Given the description of an element on the screen output the (x, y) to click on. 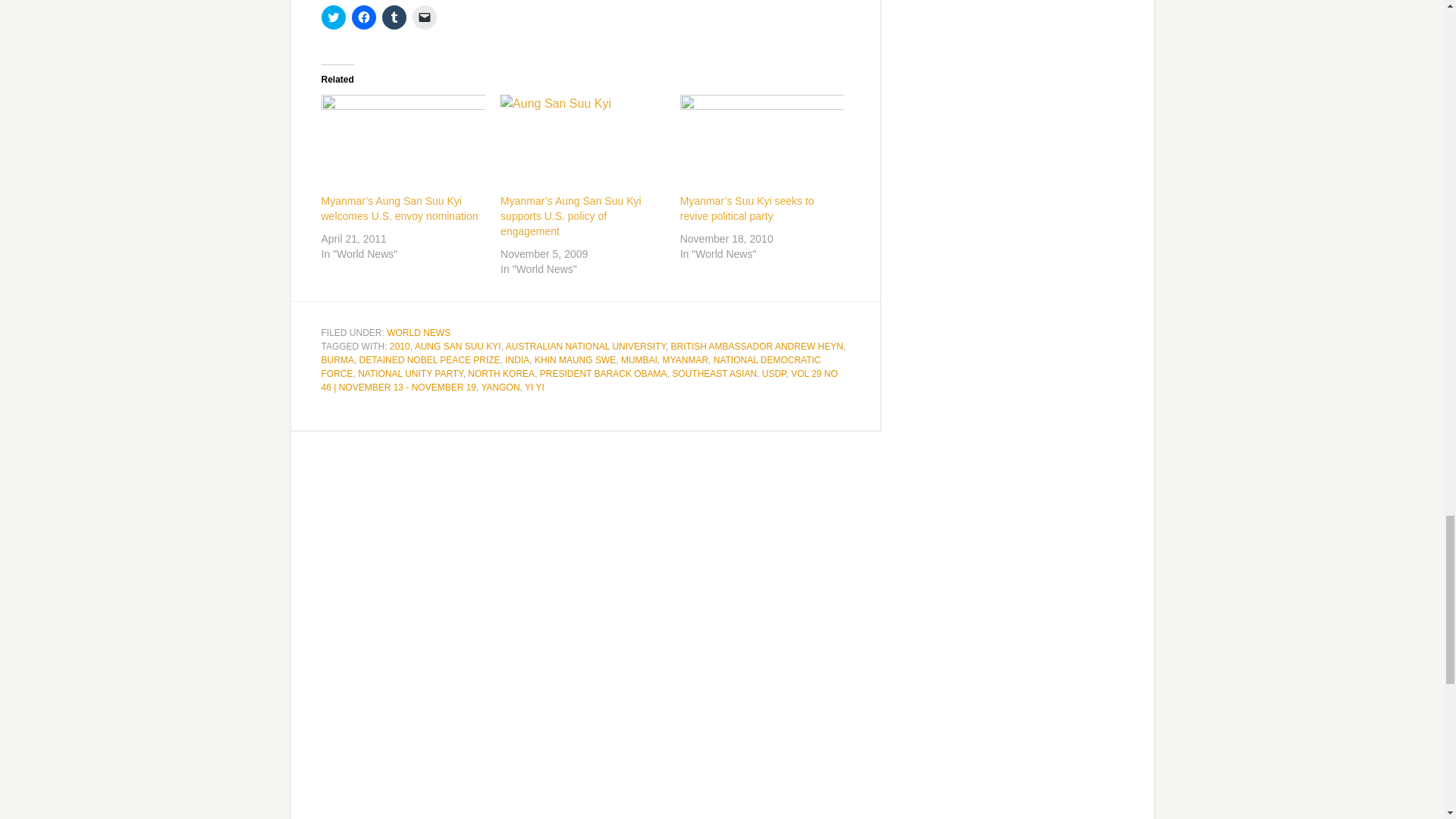
Click to share on Facebook (363, 16)
Click to share on Tumblr (393, 16)
Click to share on Twitter (333, 16)
Click to email a link to a friend (424, 16)
